Given the description of an element on the screen output the (x, y) to click on. 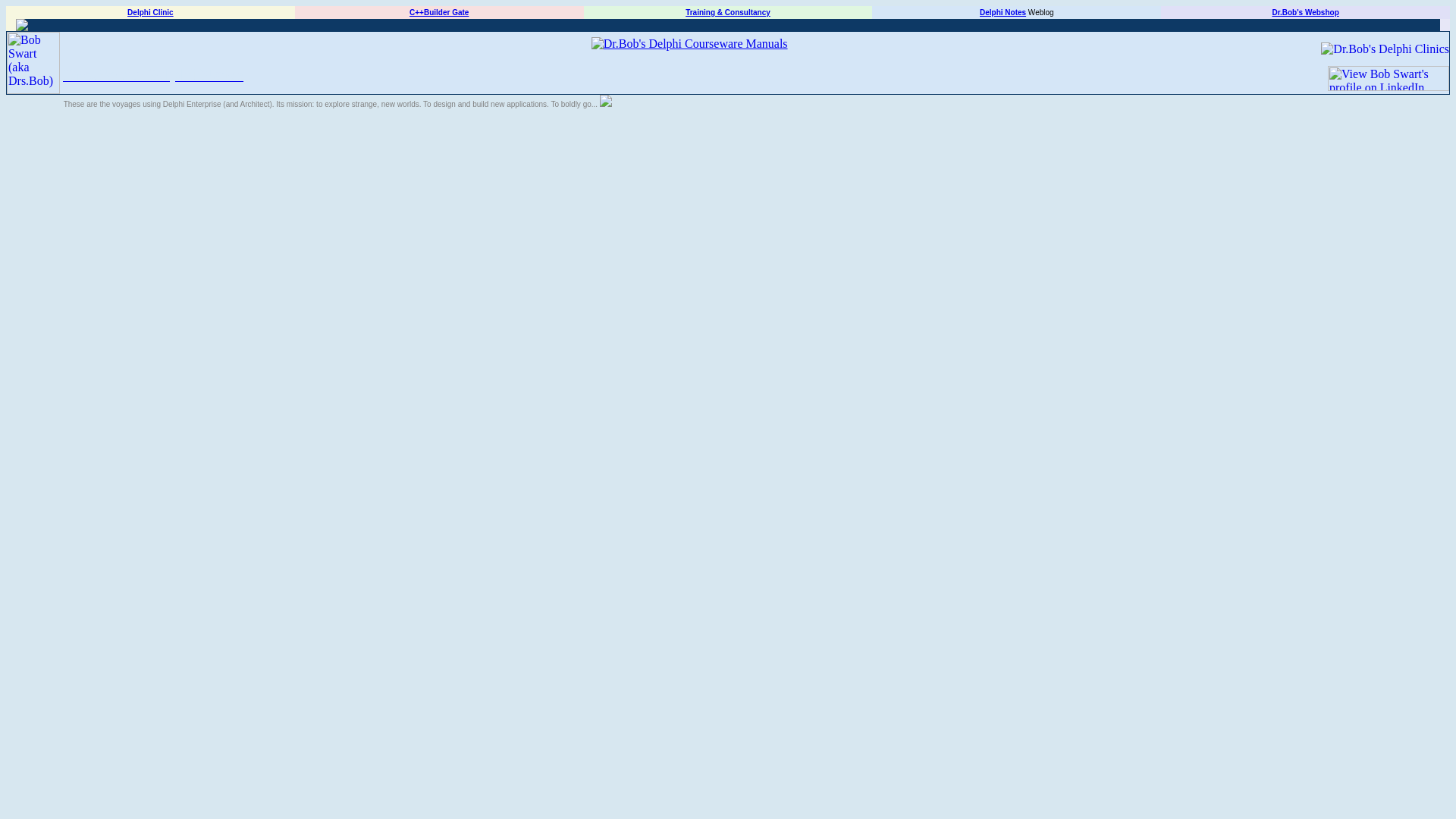
Delphi Clinic (150, 12)
Delphi Notes (1002, 12)
Dr.Bob's Webshop (1304, 12)
Drs.Bob's Delphi Notes (152, 75)
